Given the description of an element on the screen output the (x, y) to click on. 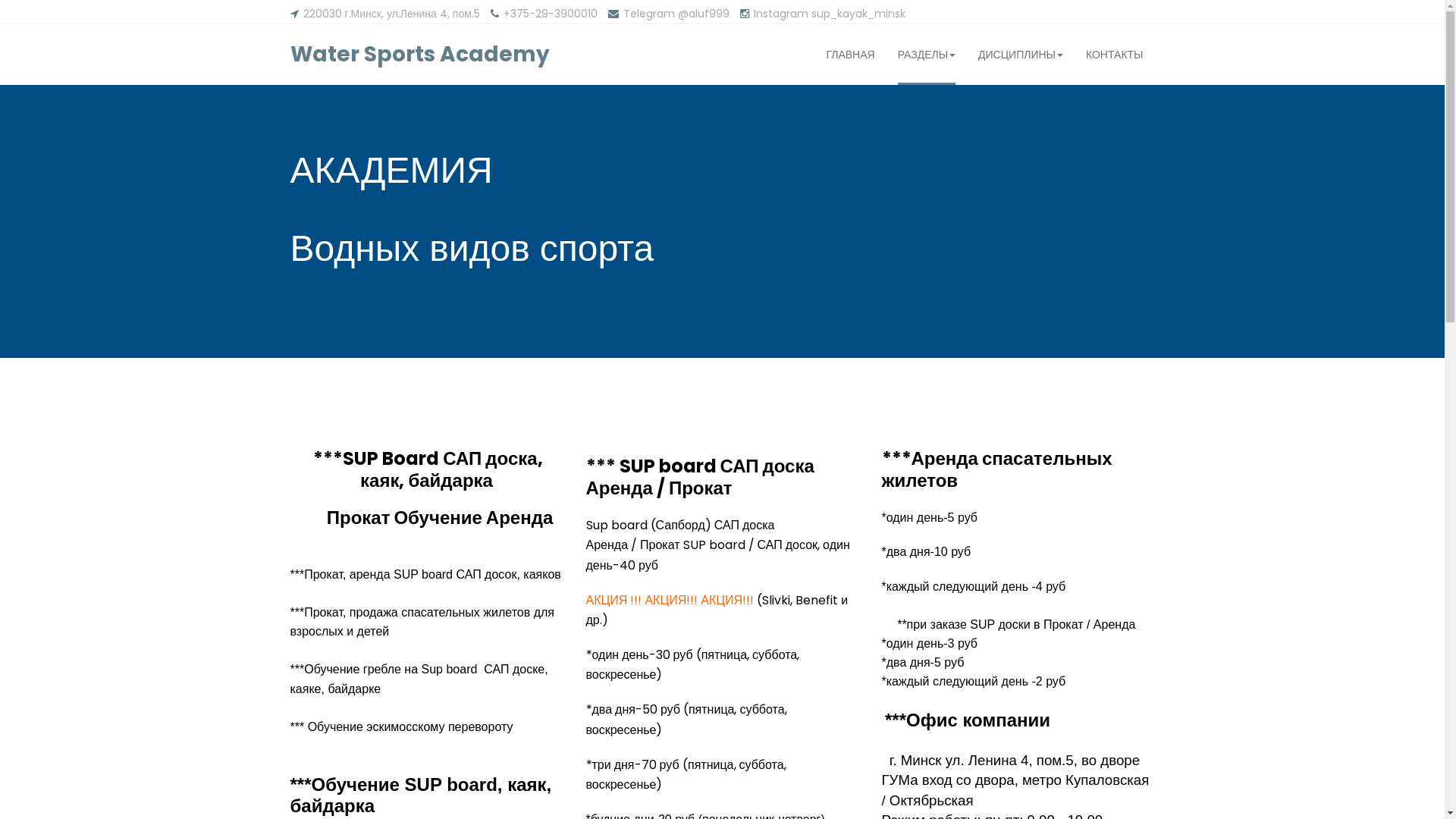
Water Sports Academy Element type: text (419, 54)
